Given the description of an element on the screen output the (x, y) to click on. 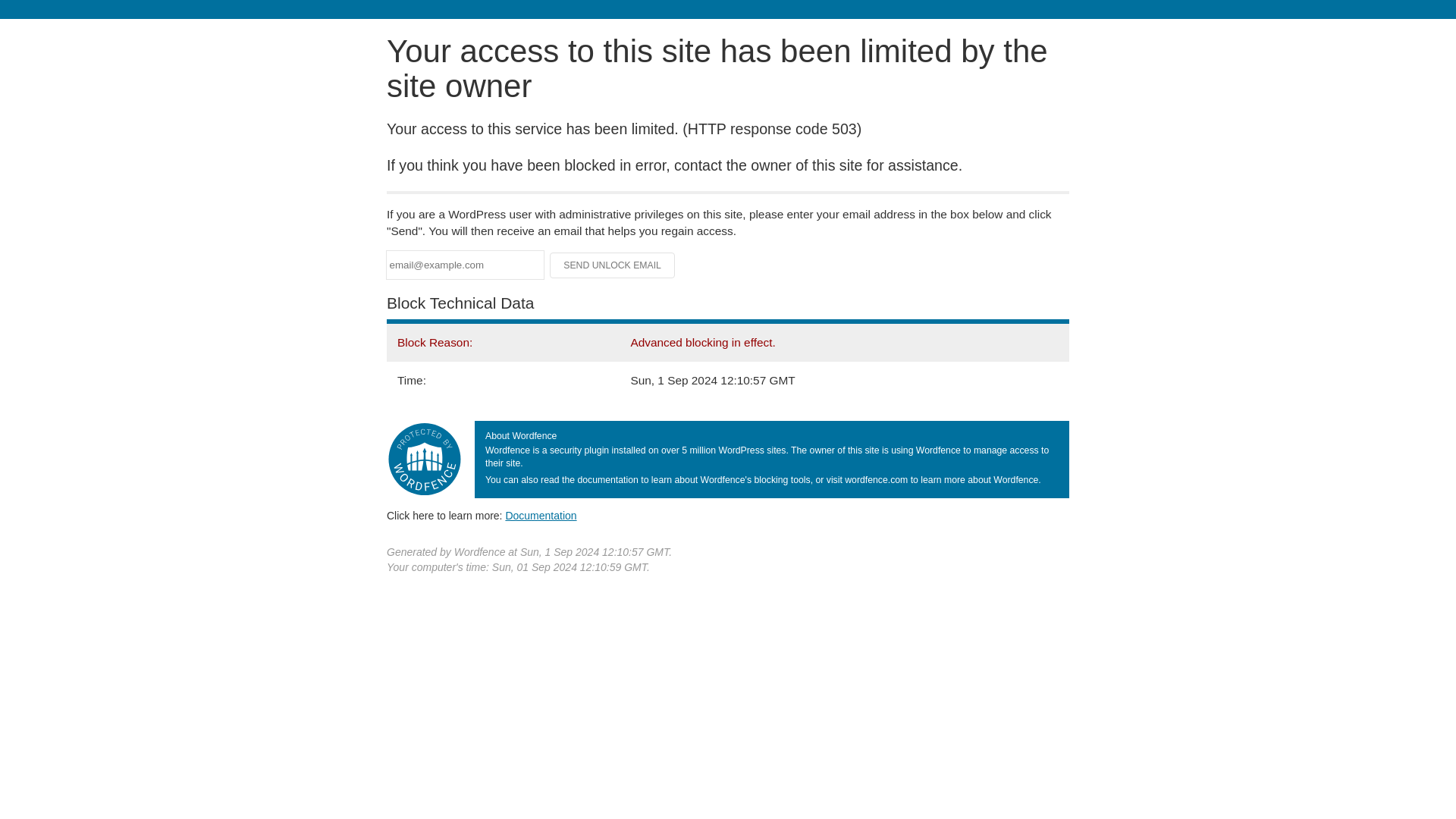
Send Unlock Email (612, 265)
Send Unlock Email (612, 265)
Documentation (540, 515)
